Given the description of an element on the screen output the (x, y) to click on. 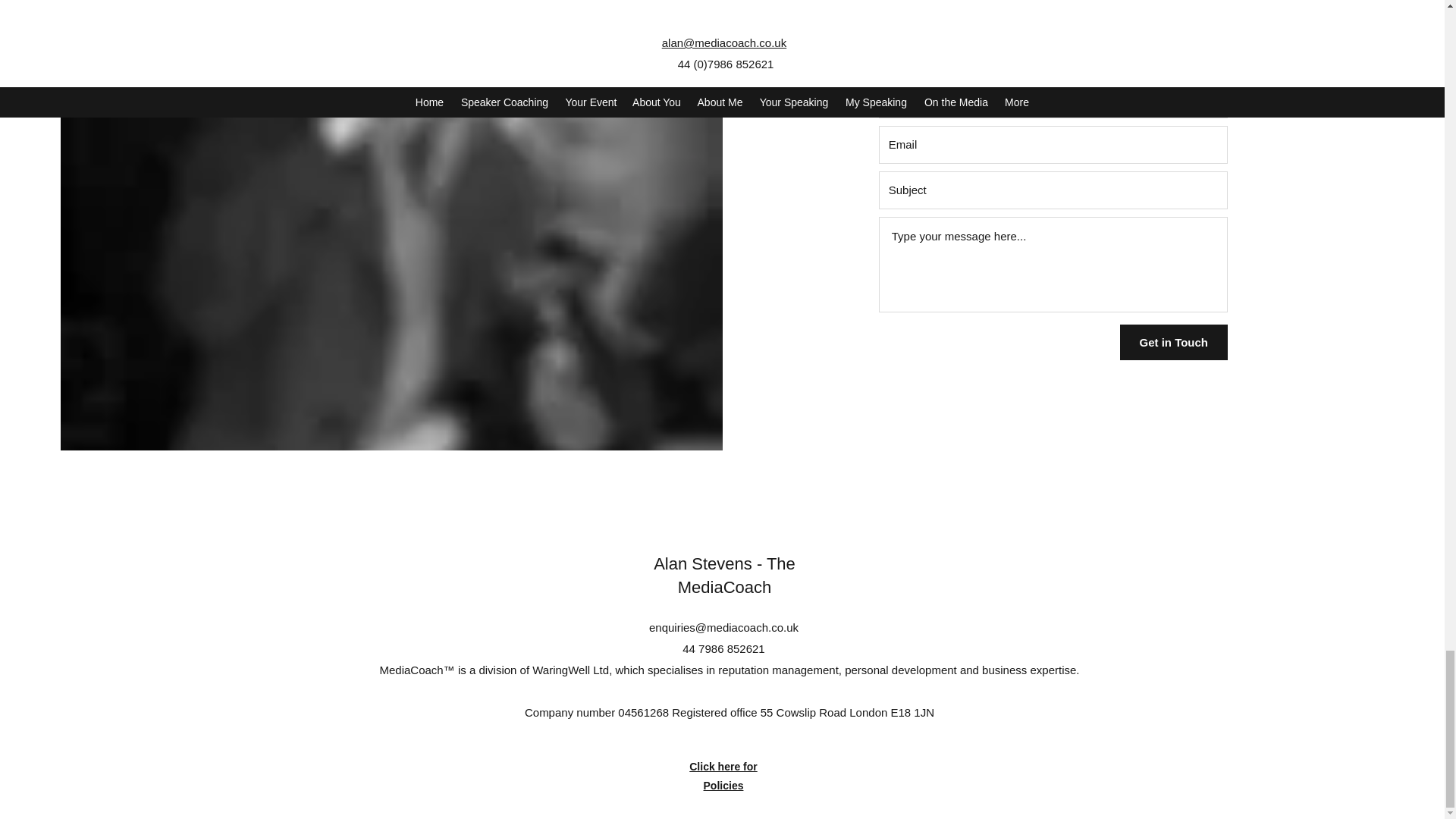
Get in Touch (1173, 342)
Click here for Policies (722, 775)
Alan Stevens - The MediaCoach (723, 575)
